Given the description of an element on the screen output the (x, y) to click on. 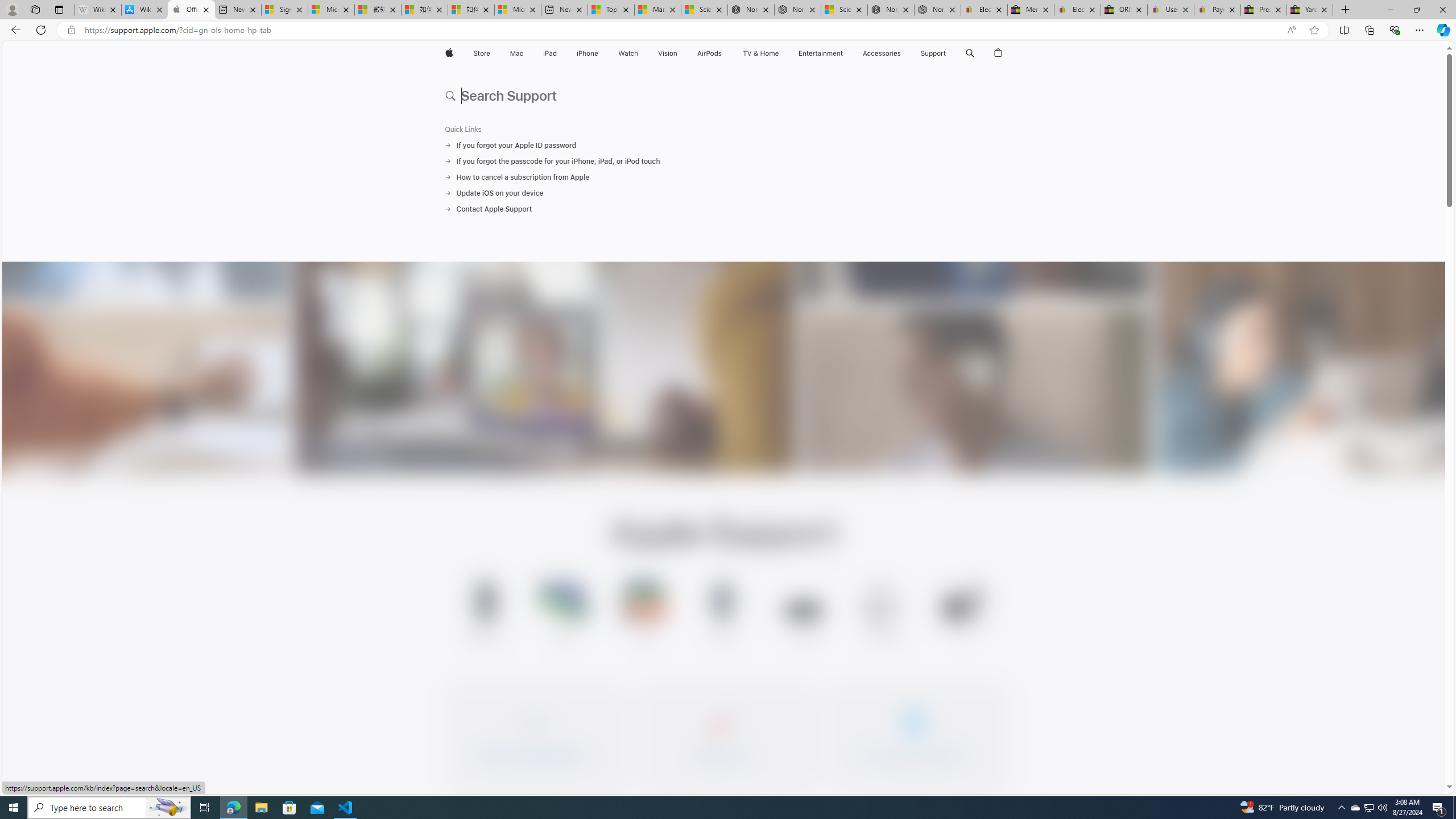
Update iOS on your device (723, 192)
iPhone (587, 53)
Microsoft account | Account Checkup (517, 9)
Store (481, 53)
TV Support (962, 612)
AirPods Support (882, 615)
Apple (448, 53)
Mac Support (564, 612)
AutomationID: globalnav-bag (998, 53)
